Given the description of an element on the screen output the (x, y) to click on. 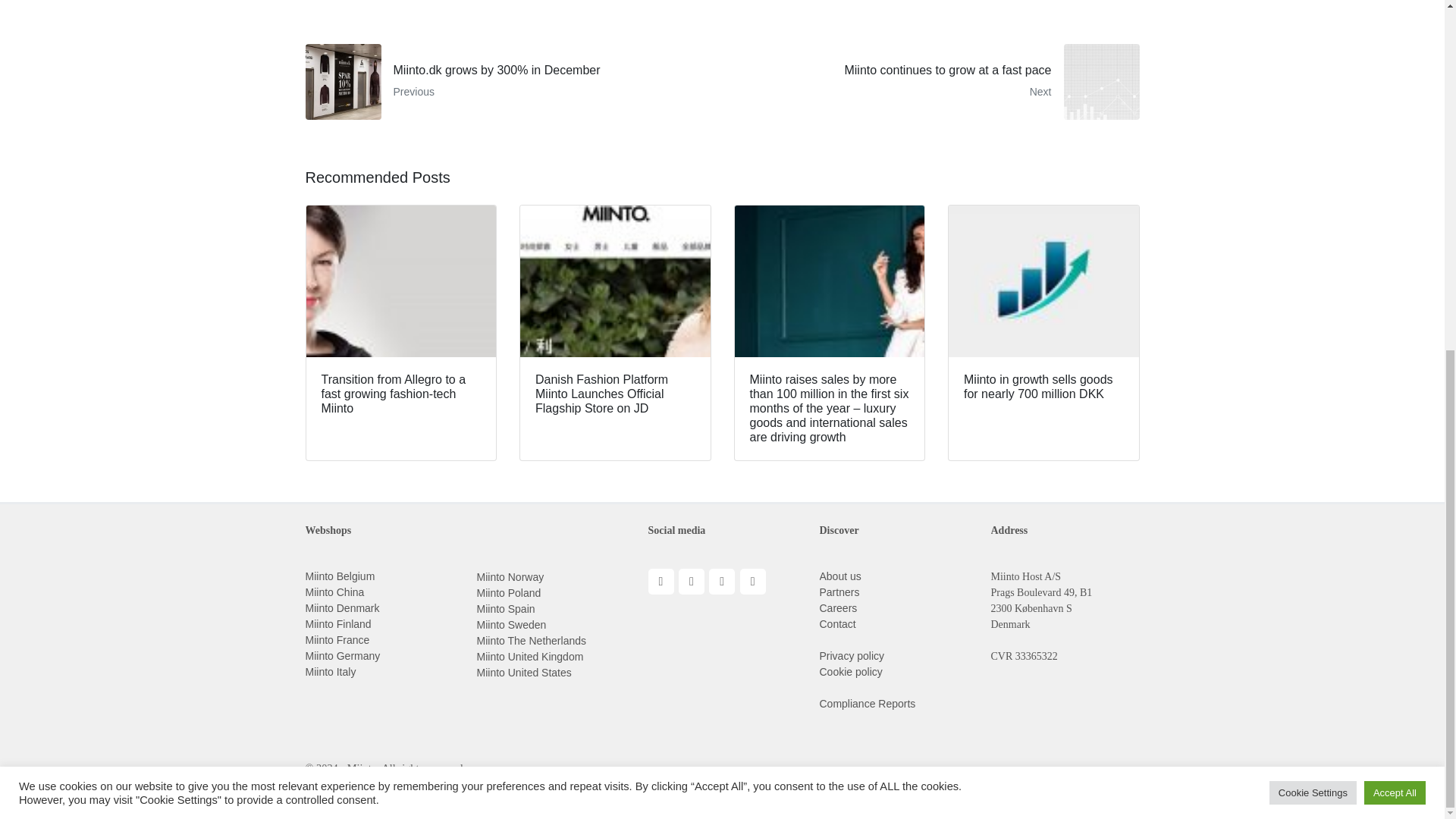
Miinto China (334, 591)
Miinto Germany (342, 654)
Miinto Finland (337, 623)
Miinto Sweden (936, 81)
Miinto continues to grow at a fast pace (511, 624)
Miinto United Kingdom (936, 81)
Miinto Italy (529, 656)
Miinto Belgium (329, 671)
Miinto United States (339, 576)
